Given the description of an element on the screen output the (x, y) to click on. 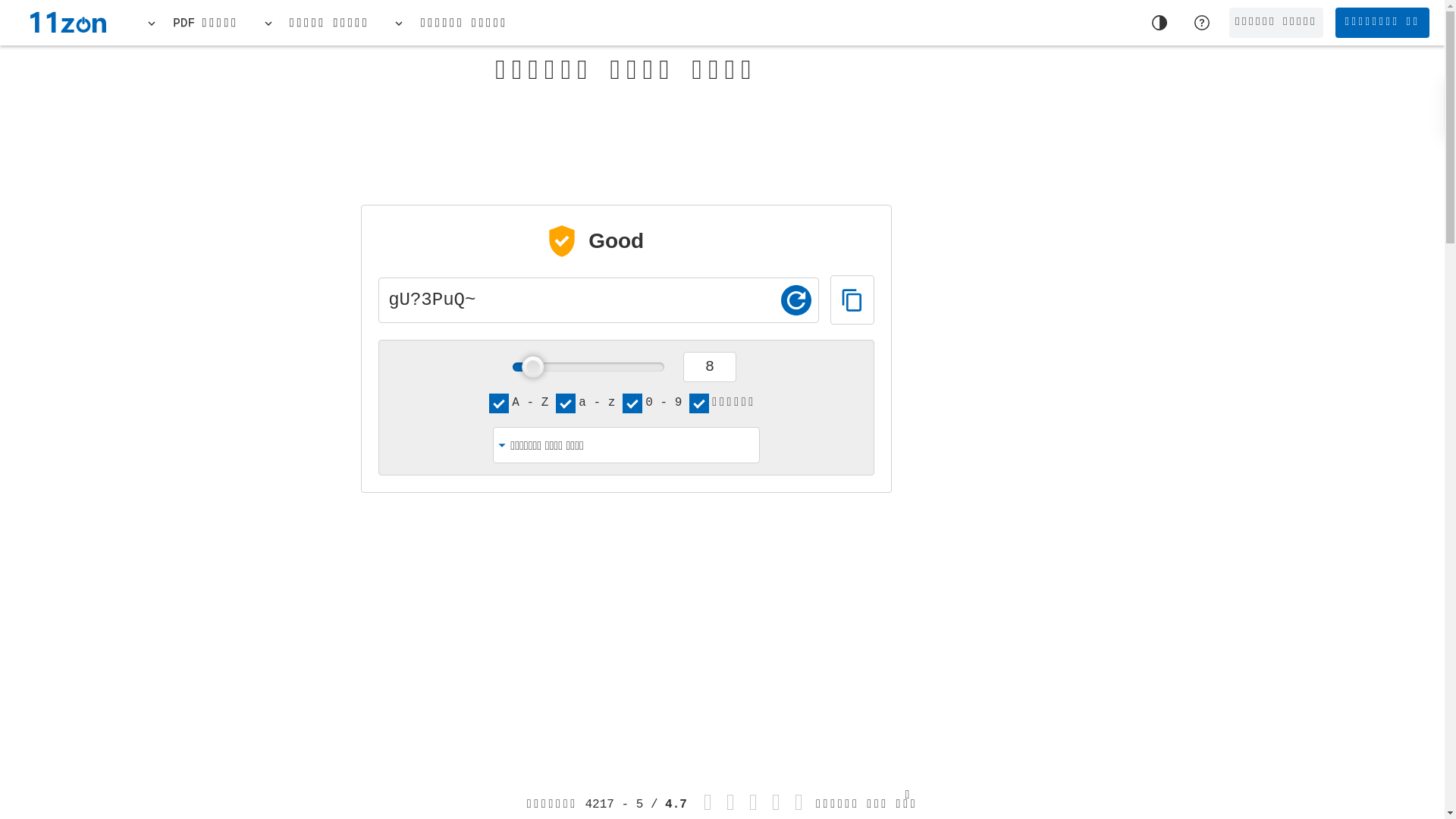
Advertisement Element type: hover (974, 629)
Advertisement Element type: hover (1279, 287)
Advertisement Element type: hover (263, 617)
Refresh Element type: hover (796, 300)
Copy Element type: hover (852, 299)
Advertisement Element type: hover (626, 134)
